Given the description of an element on the screen output the (x, y) to click on. 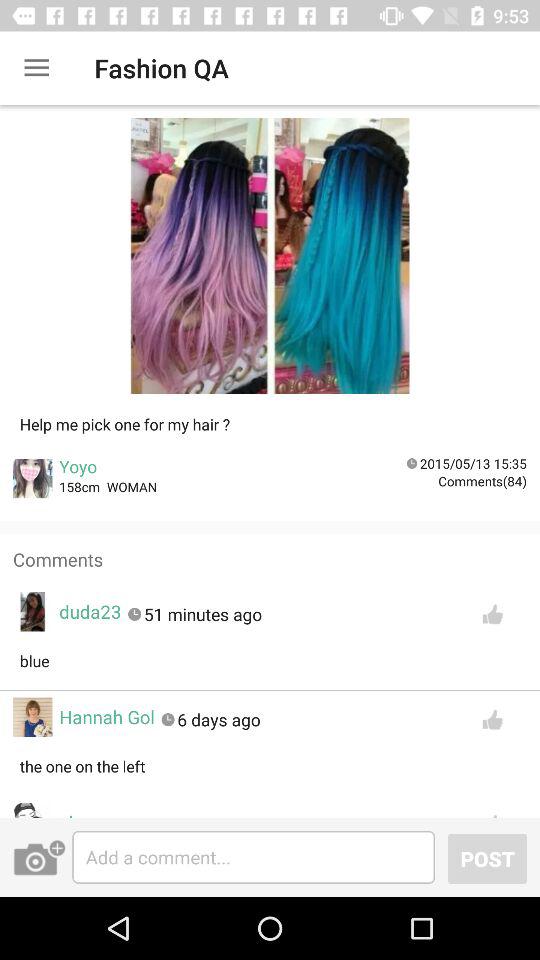
choose your option (269, 262)
